Given the description of an element on the screen output the (x, y) to click on. 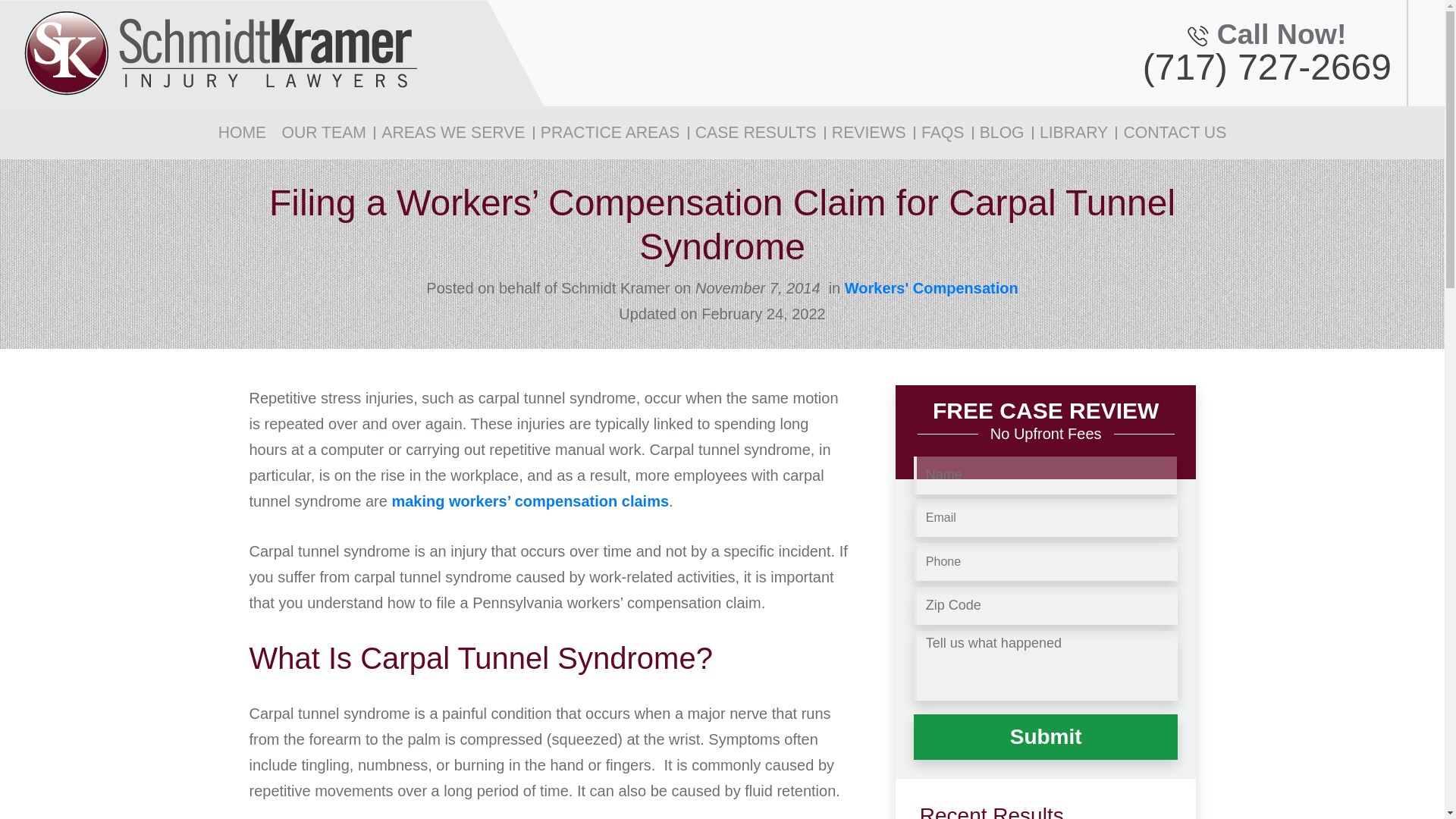
PRACTICE AREAS (609, 132)
OUR TEAM (323, 132)
AREAS WE SERVE (453, 132)
HOME (243, 132)
Submit (1045, 737)
